Given the description of an element on the screen output the (x, y) to click on. 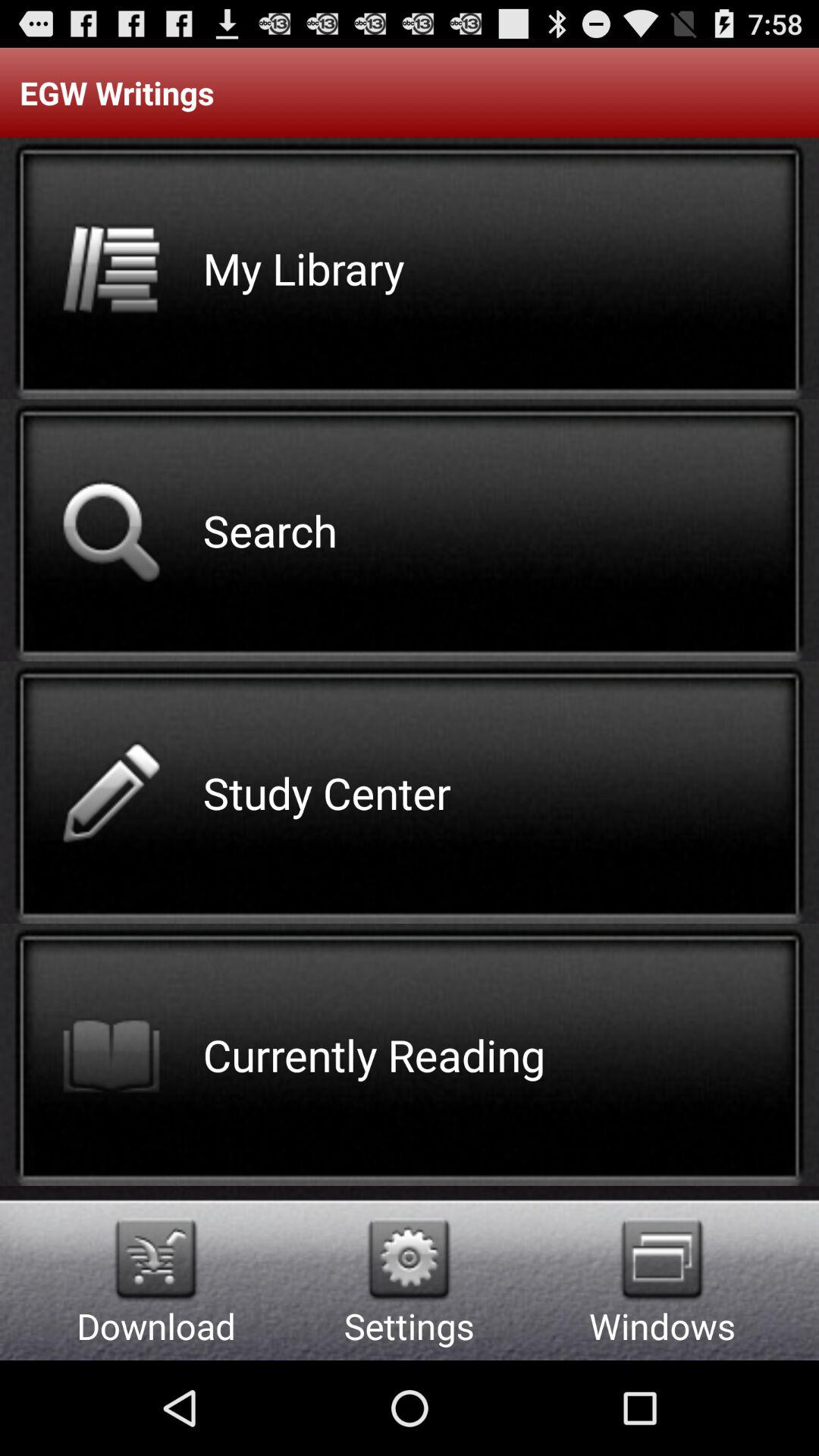
turn off icon next to windows app (409, 1258)
